Given the description of an element on the screen output the (x, y) to click on. 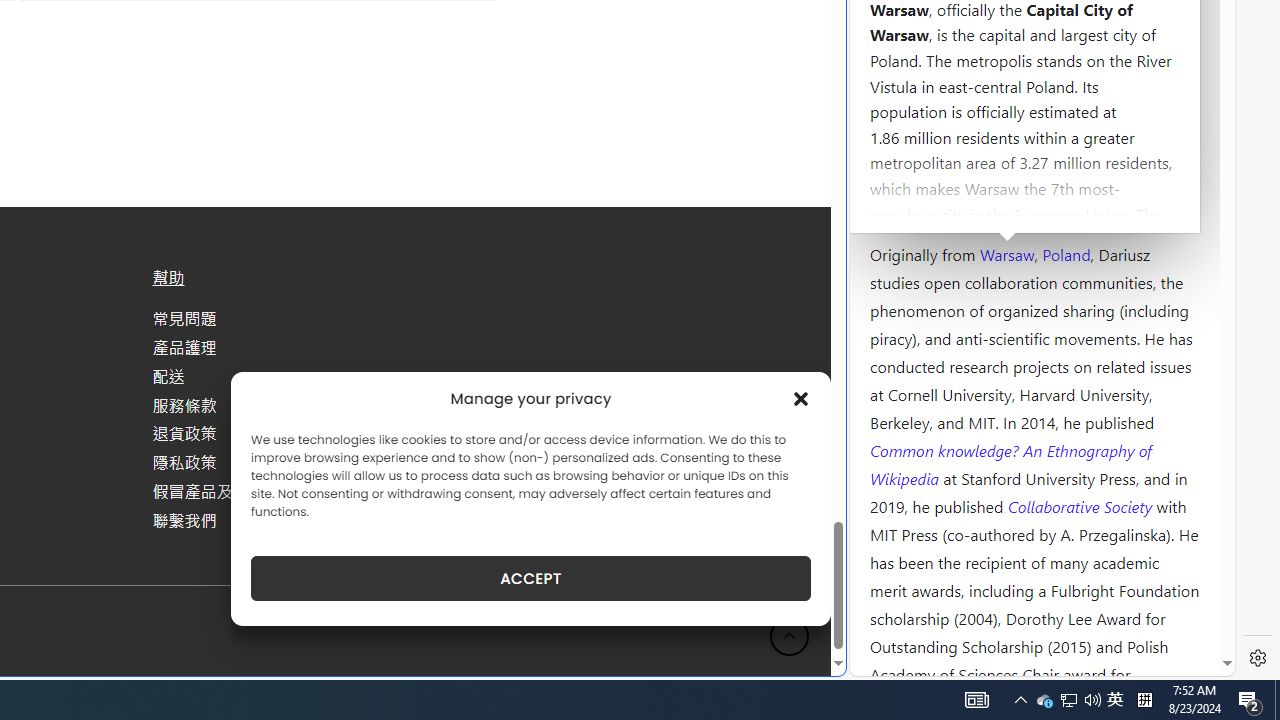
Go to top (790, 636)
Collaborative Society  (1082, 505)
Warsaw (1006, 253)
